Given the description of an element on the screen output the (x, y) to click on. 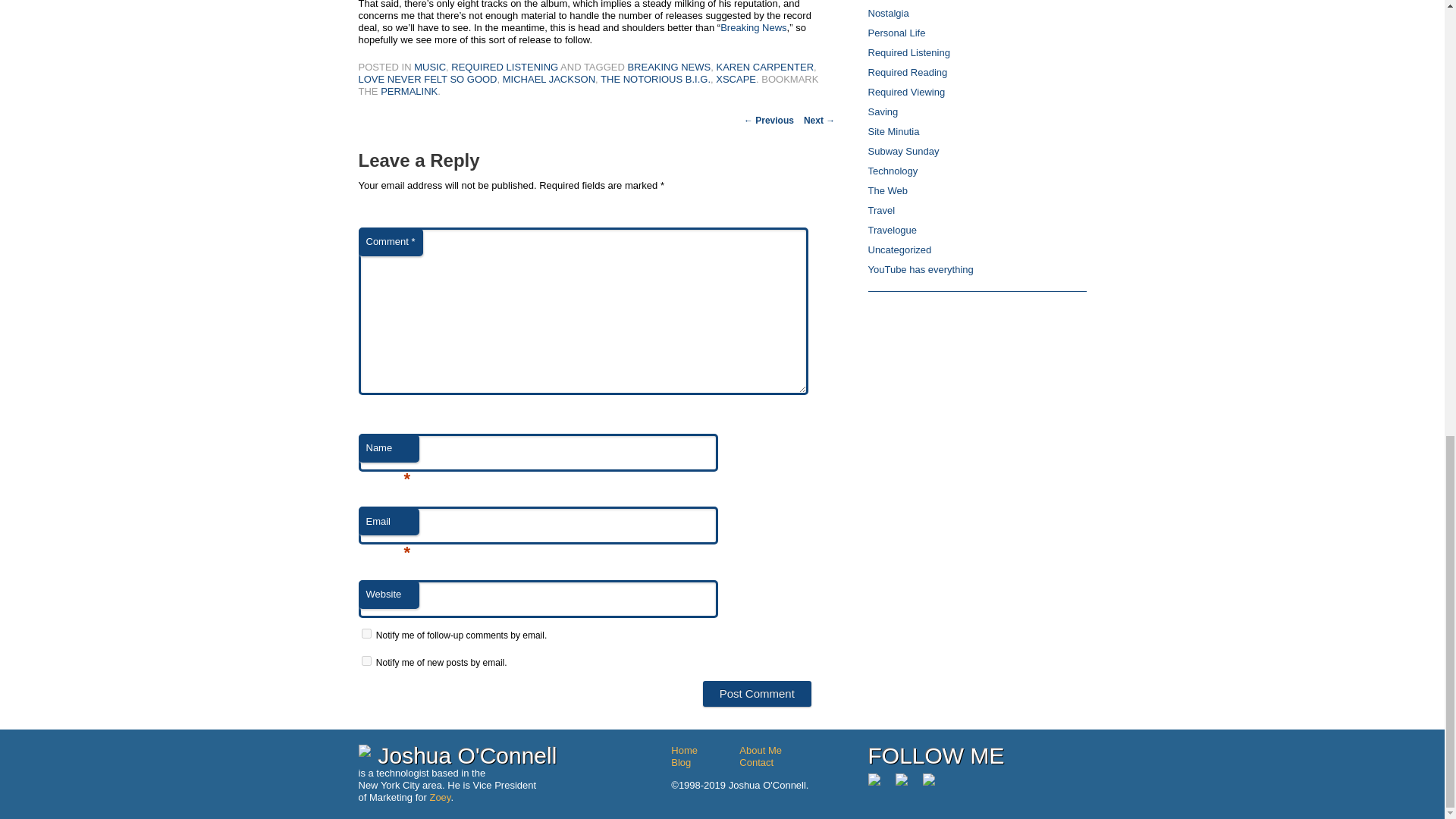
MUSIC (429, 66)
BREAKING NEWS (668, 66)
MICHAEL JACKSON (548, 79)
THE NOTORIOUS B.I.G. (654, 79)
REQUIRED LISTENING (504, 66)
Post Comment (756, 693)
subscribe (366, 660)
LOVE NEVER FELT SO GOOD (427, 79)
XSCAPE (735, 79)
PERMALINK (409, 91)
